Given the description of an element on the screen output the (x, y) to click on. 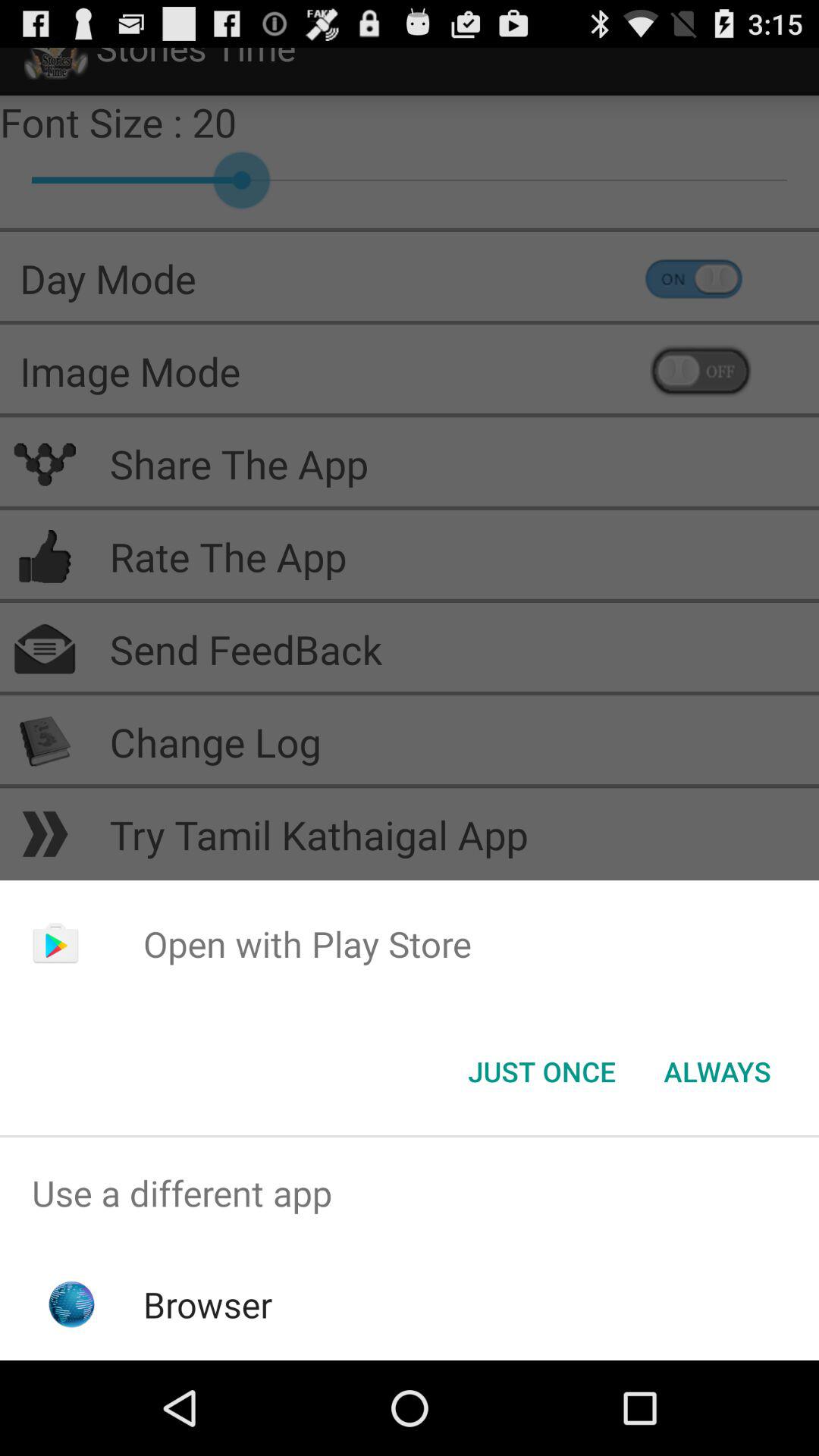
choose the browser item (207, 1304)
